Given the description of an element on the screen output the (x, y) to click on. 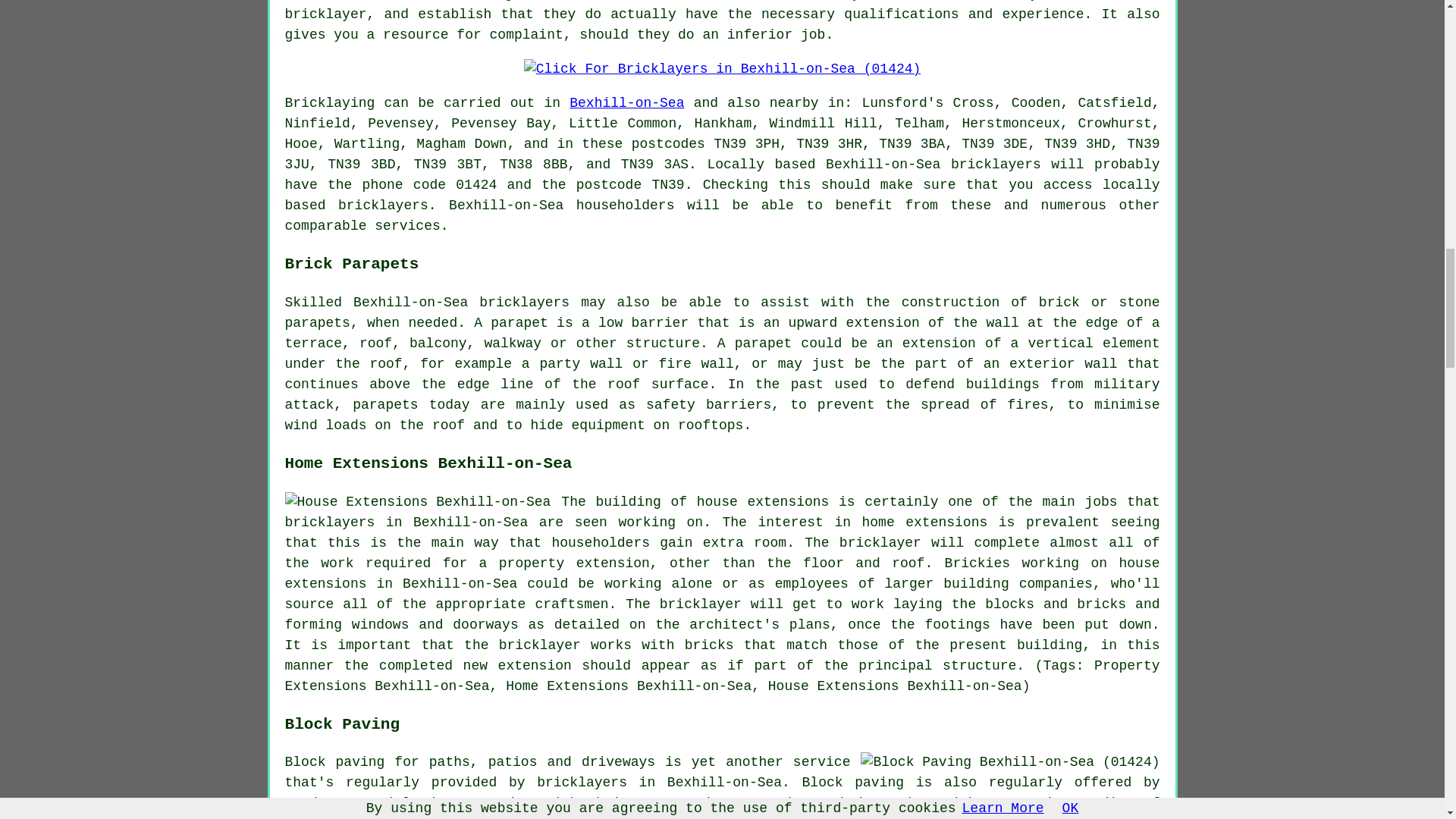
Bricklaying (330, 102)
bricklayers (995, 164)
bricklayers (382, 205)
